Given the description of an element on the screen output the (x, y) to click on. 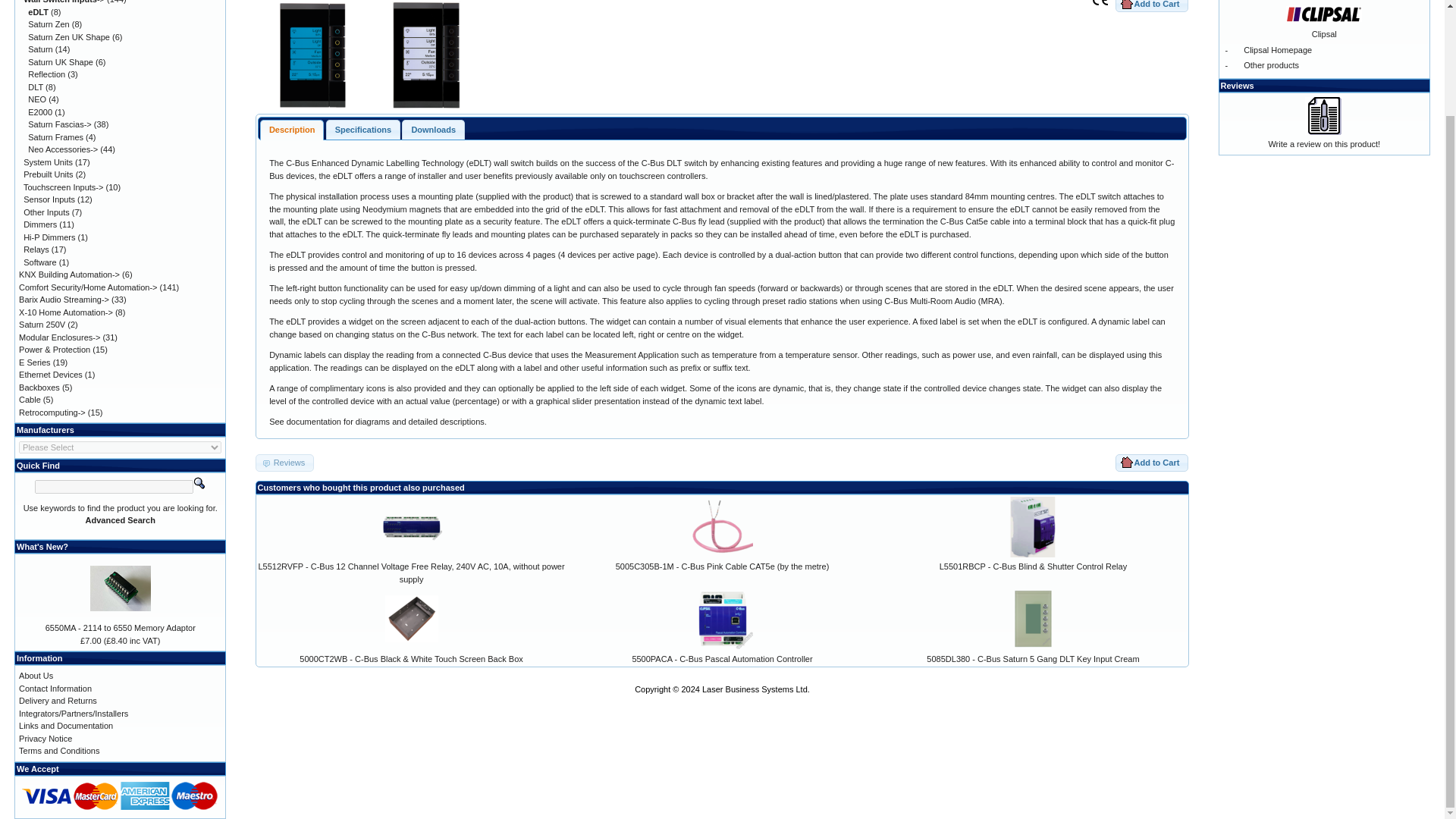
Add to Cart (1151, 462)
Add to Cart (1151, 6)
Downloads (433, 129)
Specifications (363, 129)
5500PACA - C-Bus Pascal Automation Controller (721, 658)
5085DL380 - C-Bus Saturn 5 Gang DLT Key Input Cream (1032, 658)
Write Review (1323, 116)
6550MA - 2114 to 6550 Memory Adaptor (120, 588)
Description (291, 129)
5085DL380 - C-Bus Saturn 5 Gang DLT Key Input Cream (1032, 618)
Reviews (285, 462)
 Quick Find  (199, 481)
Clipsal (1323, 13)
Laser Business Systems Ltd. (755, 688)
